Given the description of an element on the screen output the (x, y) to click on. 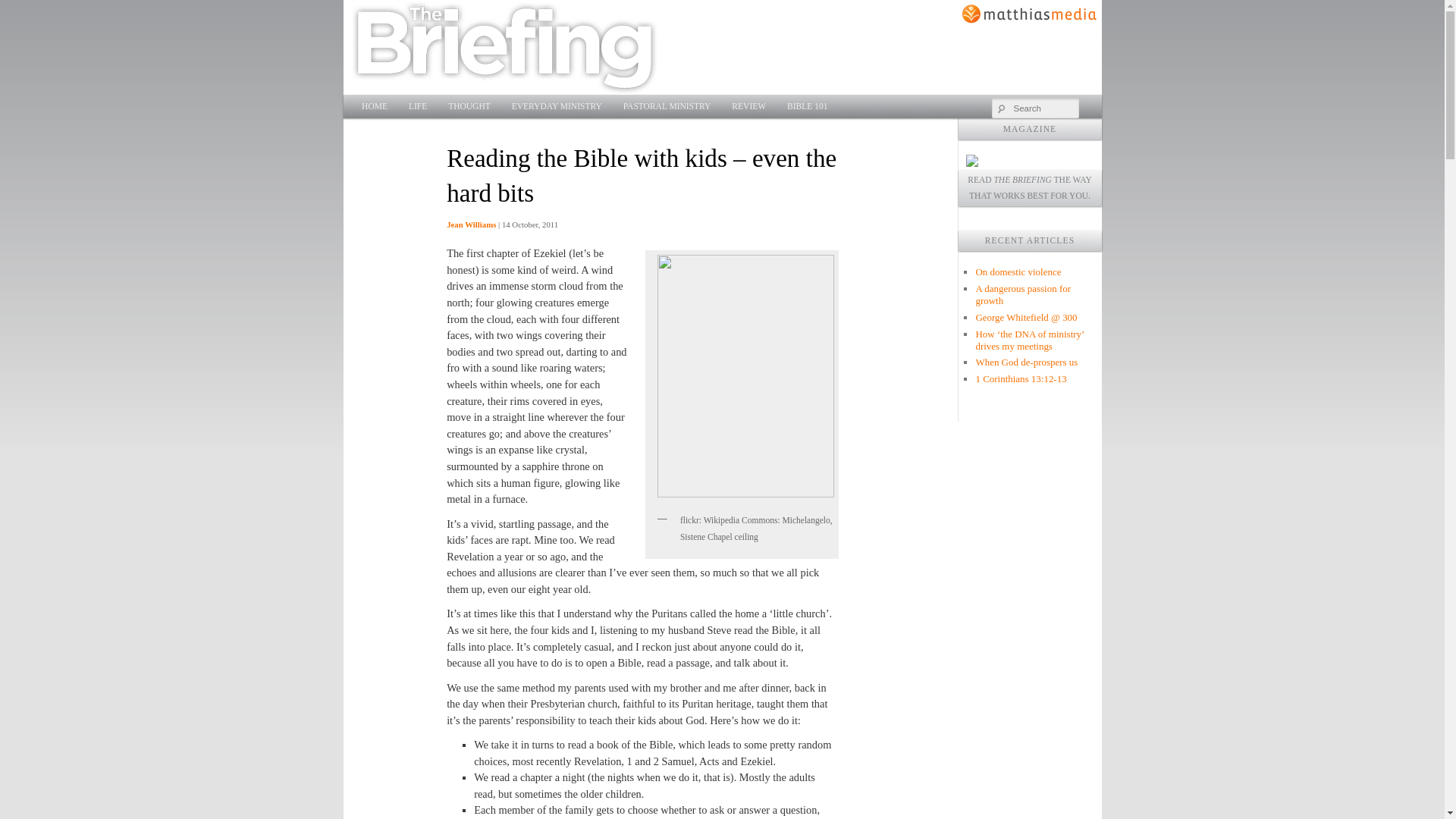
The Briefing (504, 47)
PASTORAL MINISTRY (667, 106)
REVIEW (748, 106)
THOUGHT (469, 106)
HOME (373, 106)
View all posts by Jean Williams (471, 224)
BIBLE 101 (807, 106)
Search (21, 7)
SKIP TO PRIMARY CONTENT (443, 106)
Subscribe now (972, 162)
